Given the description of an element on the screen output the (x, y) to click on. 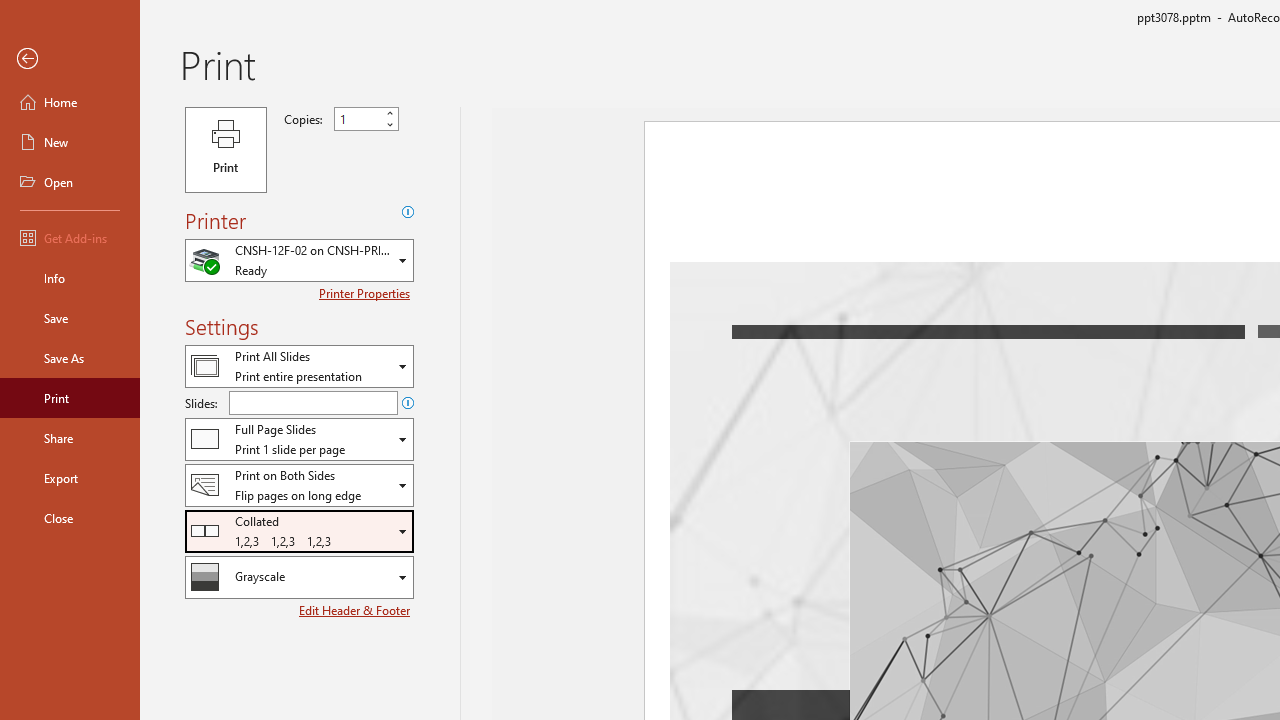
Back (69, 59)
Info (69, 277)
Get Add-ins (69, 237)
New (69, 141)
Which Printer (299, 260)
Slides (313, 402)
Slides and Handouts (299, 439)
Save As (69, 357)
Export (69, 477)
Copies (358, 119)
